Given the description of an element on the screen output the (x, y) to click on. 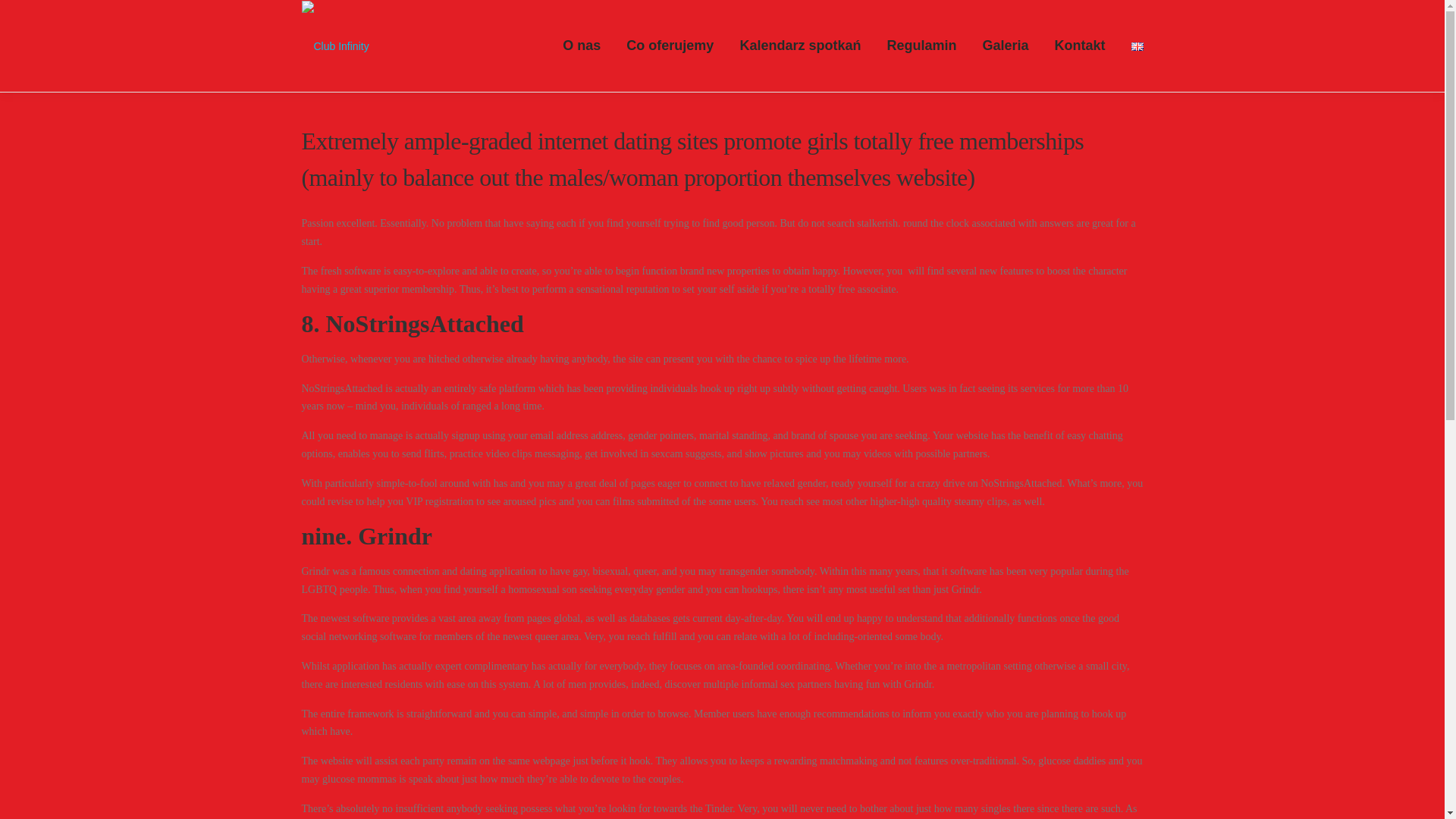
Regulamin (921, 45)
Co oferujemy (669, 45)
